Given the description of an element on the screen output the (x, y) to click on. 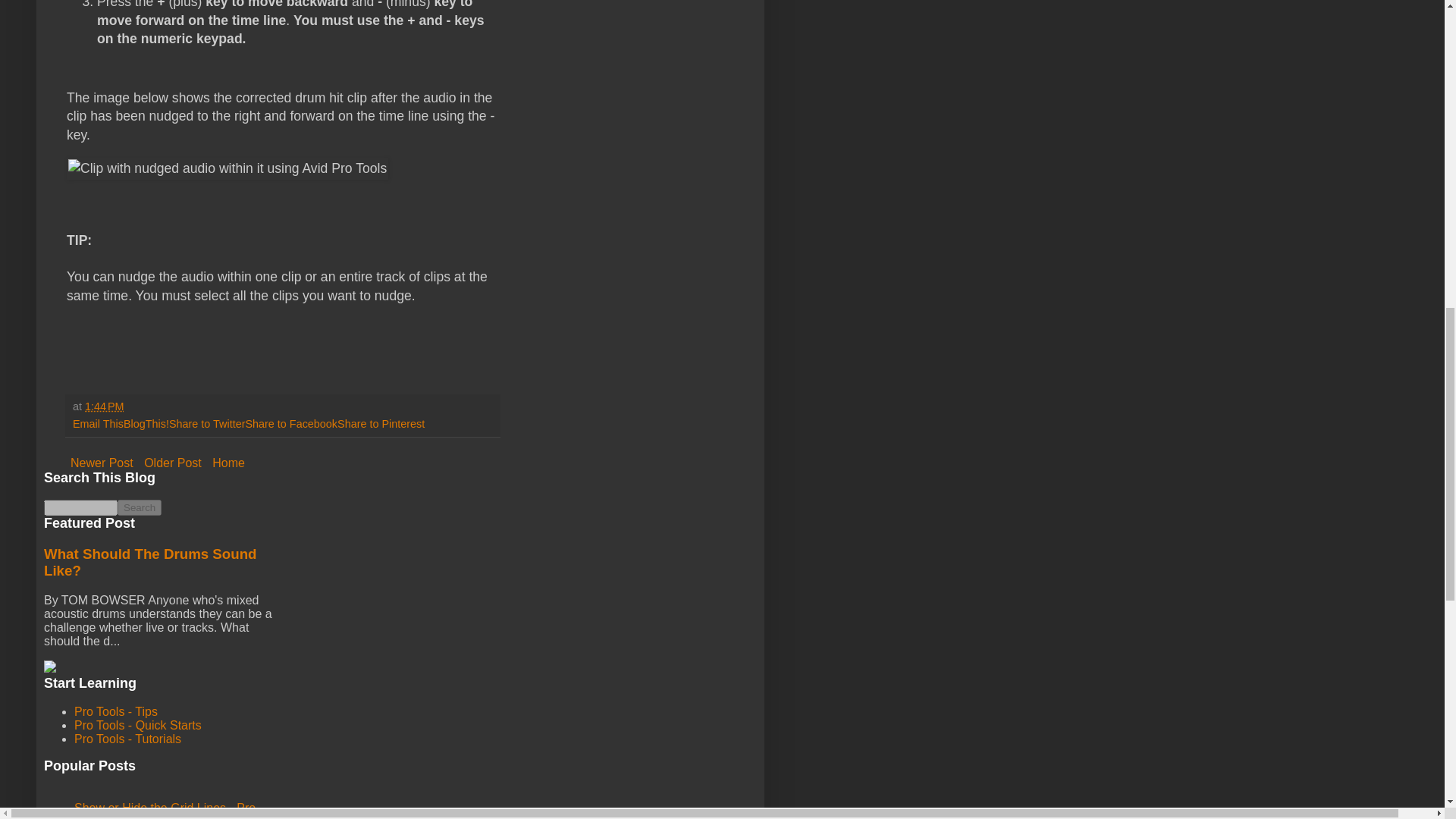
BlogThis! (145, 423)
Pro Tools - Tips (115, 711)
Share to Facebook (290, 423)
Share to Pinterest (381, 423)
Search (139, 507)
Share to Twitter (207, 423)
Search (139, 507)
search (139, 507)
Share to Facebook (290, 423)
BlogThis! (145, 423)
Share to Twitter (207, 423)
search (80, 507)
Email This (97, 423)
What Should The Drums Sound Like? (150, 562)
Search (139, 507)
